Given the description of an element on the screen output the (x, y) to click on. 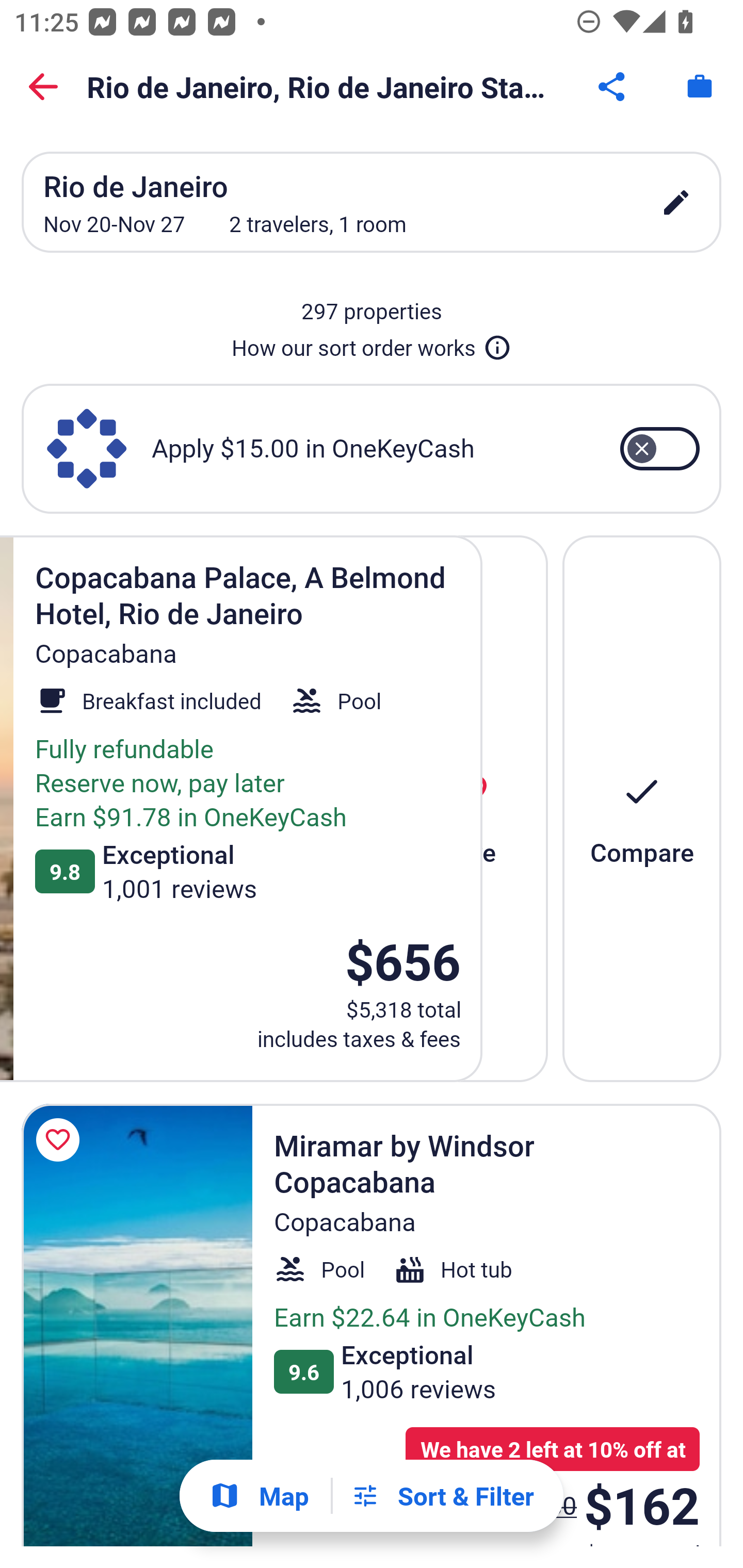
Back (43, 86)
Share Button (612, 86)
Trips. Button (699, 86)
How our sort order works (371, 344)
Compare (641, 807)
Save Miramar by Windsor Copacabana to a trip (61, 1139)
Miramar by Windsor Copacabana (136, 1324)
Filters Sort & Filter Filters Button (442, 1495)
Show map Map Show map Button (258, 1495)
